Given the description of an element on the screen output the (x, y) to click on. 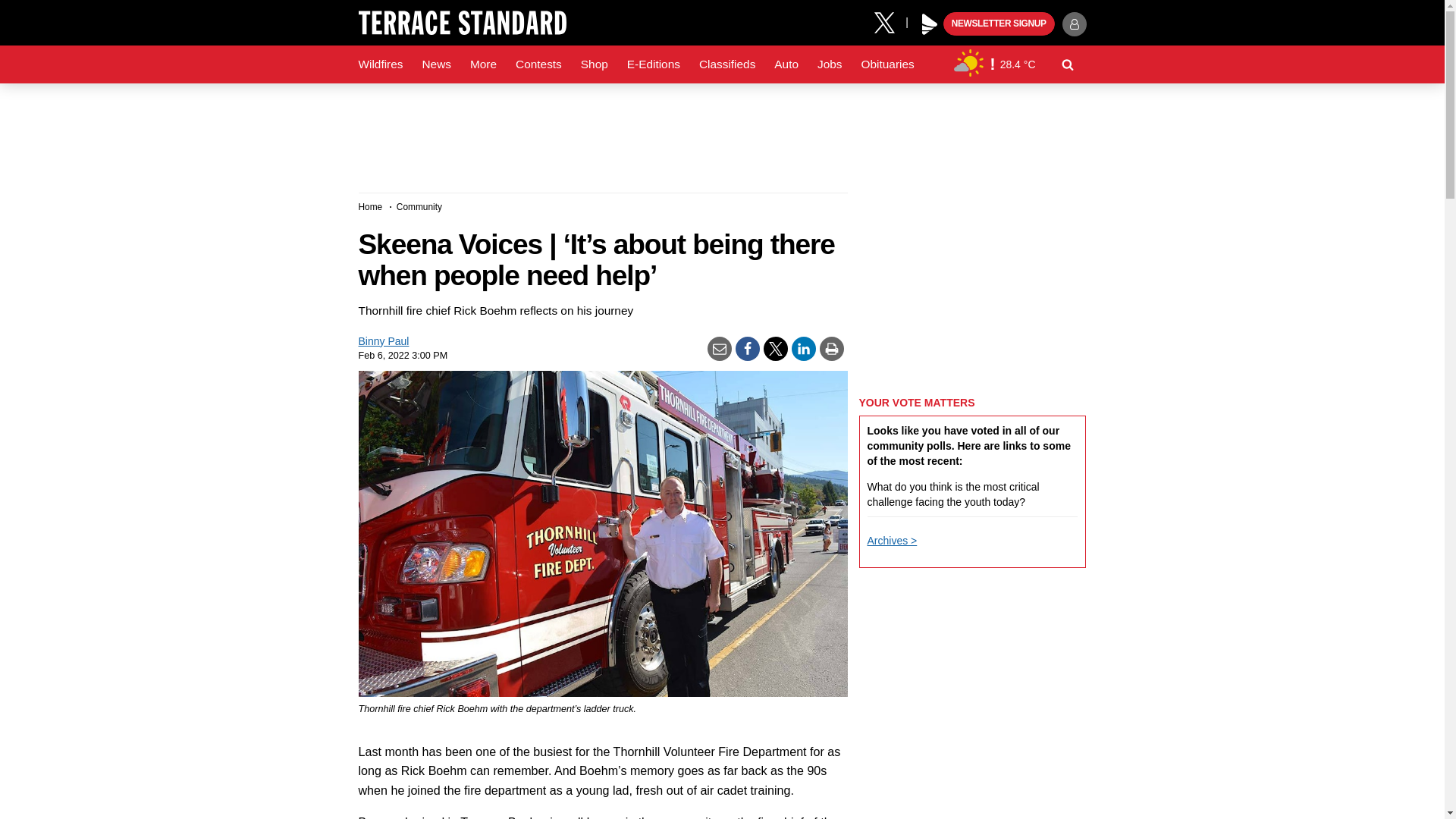
Play (929, 24)
NEWSLETTER SIGNUP (998, 24)
News (435, 64)
Wildfires (380, 64)
X (889, 21)
Black Press Media (929, 24)
